Given the description of an element on the screen output the (x, y) to click on. 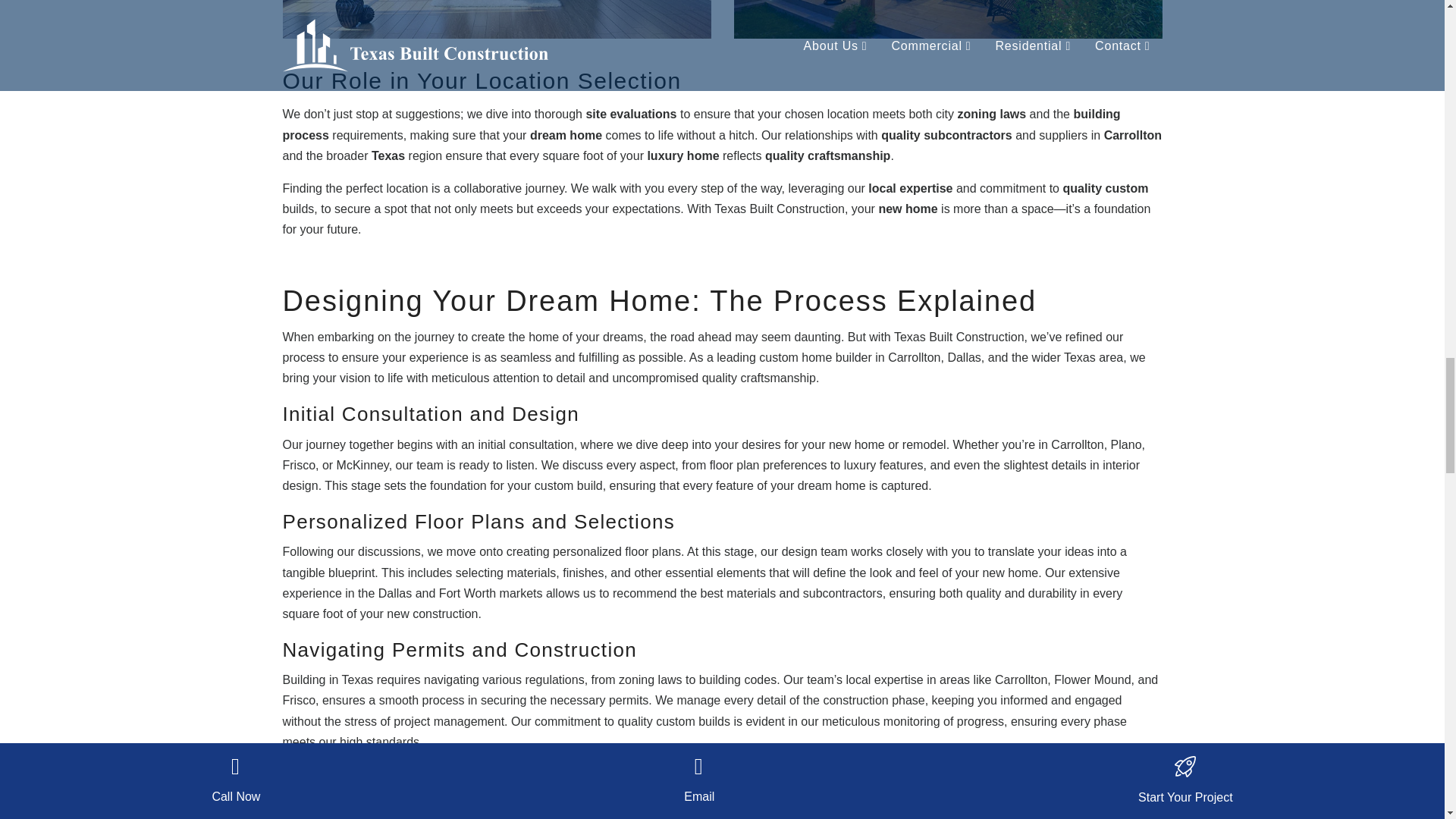
Texas custom home builder (947, 19)
Custom home construction company (496, 19)
